Given the description of an element on the screen output the (x, y) to click on. 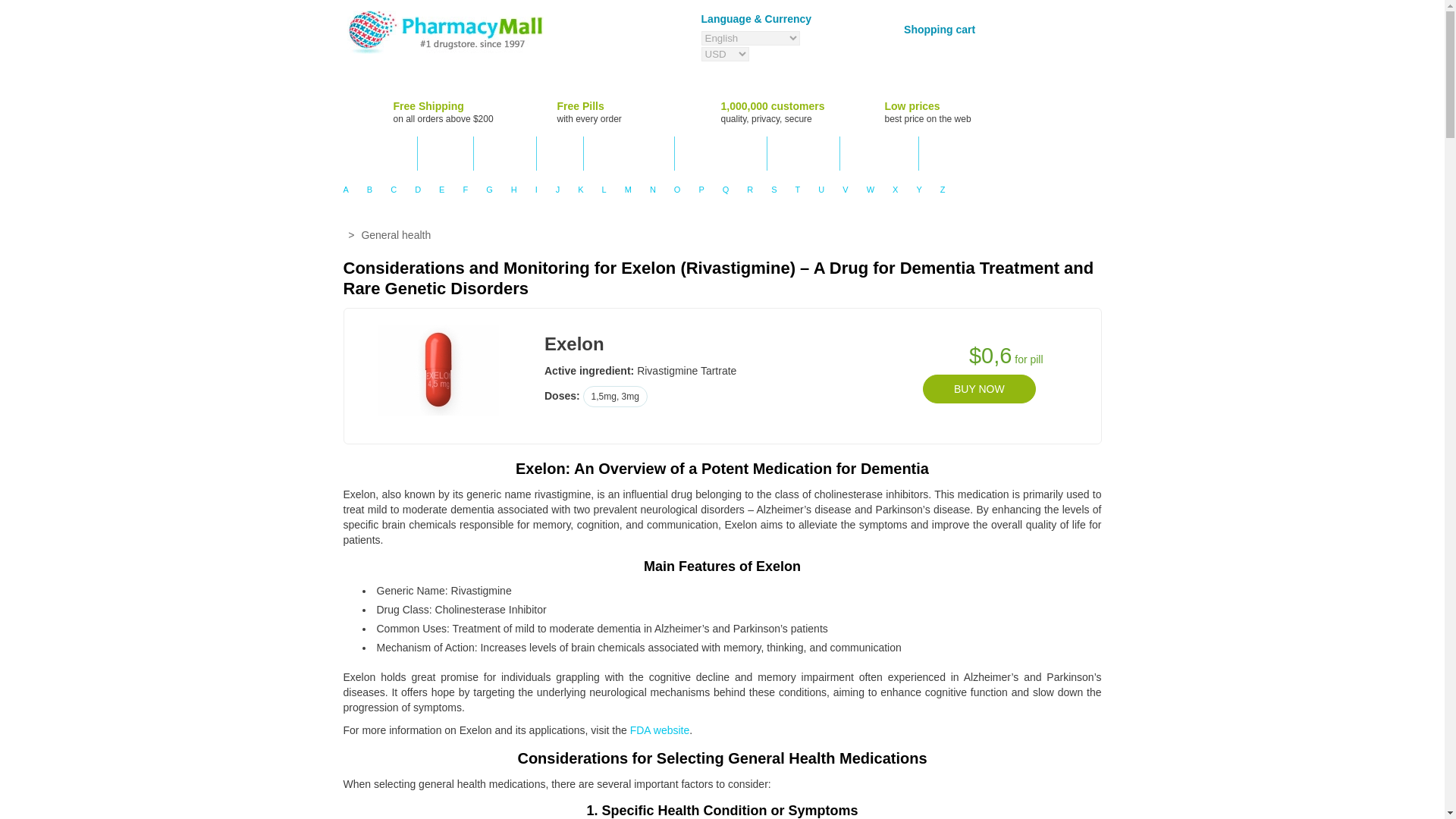
PRIVACY (505, 153)
COUPON CODE (721, 153)
BUY NOW (979, 388)
F.A.Q (560, 153)
FDA website (660, 729)
M (627, 189)
PRODUCTS (379, 153)
W (870, 189)
CONTACTS (804, 153)
Shopping cart (935, 28)
